Given the description of an element on the screen output the (x, y) to click on. 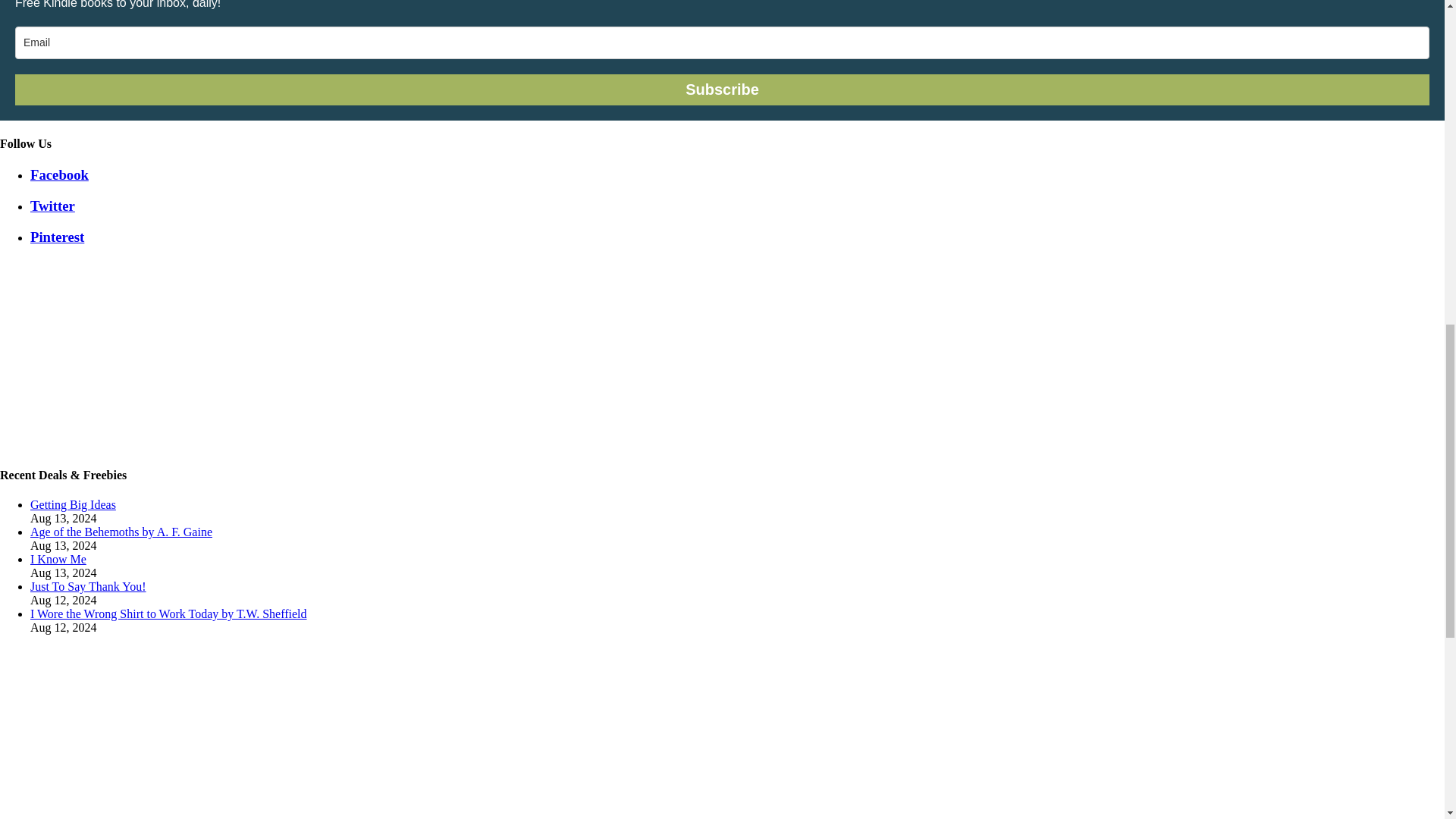
Just To Say Thank You! (88, 585)
Advertisement (113, 733)
I Know Me (57, 558)
Advertisement (113, 353)
Subscribe (721, 89)
Getting Big Ideas (73, 504)
I Wore the Wrong Shirt to Work Today by T.W. Sheffield (168, 613)
Age of the Behemoths by A. F. Gaine (121, 531)
